Given the description of an element on the screen output the (x, y) to click on. 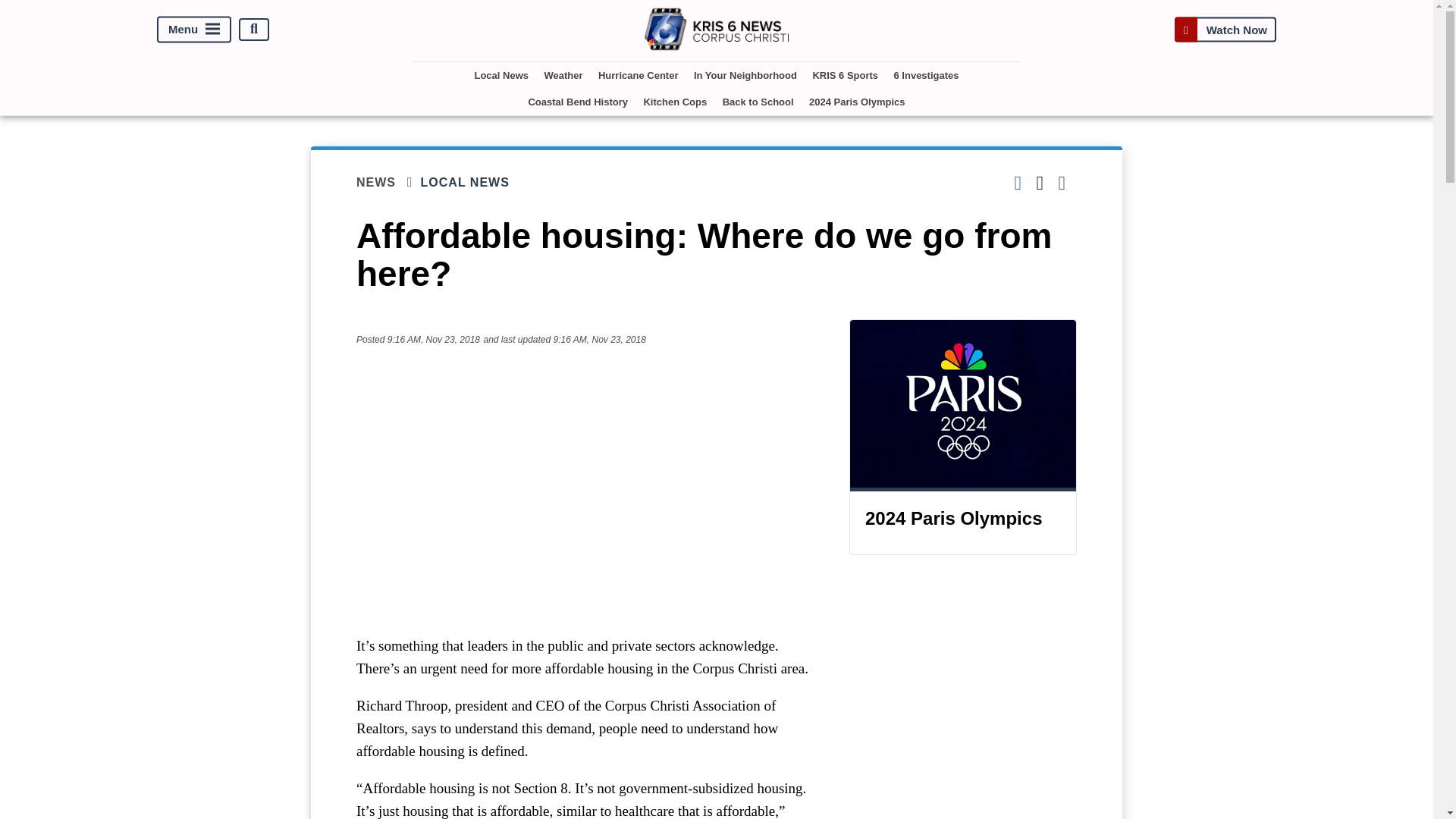
Menu (194, 28)
Watch Now (1224, 29)
YouTube player (587, 489)
